Given the description of an element on the screen output the (x, y) to click on. 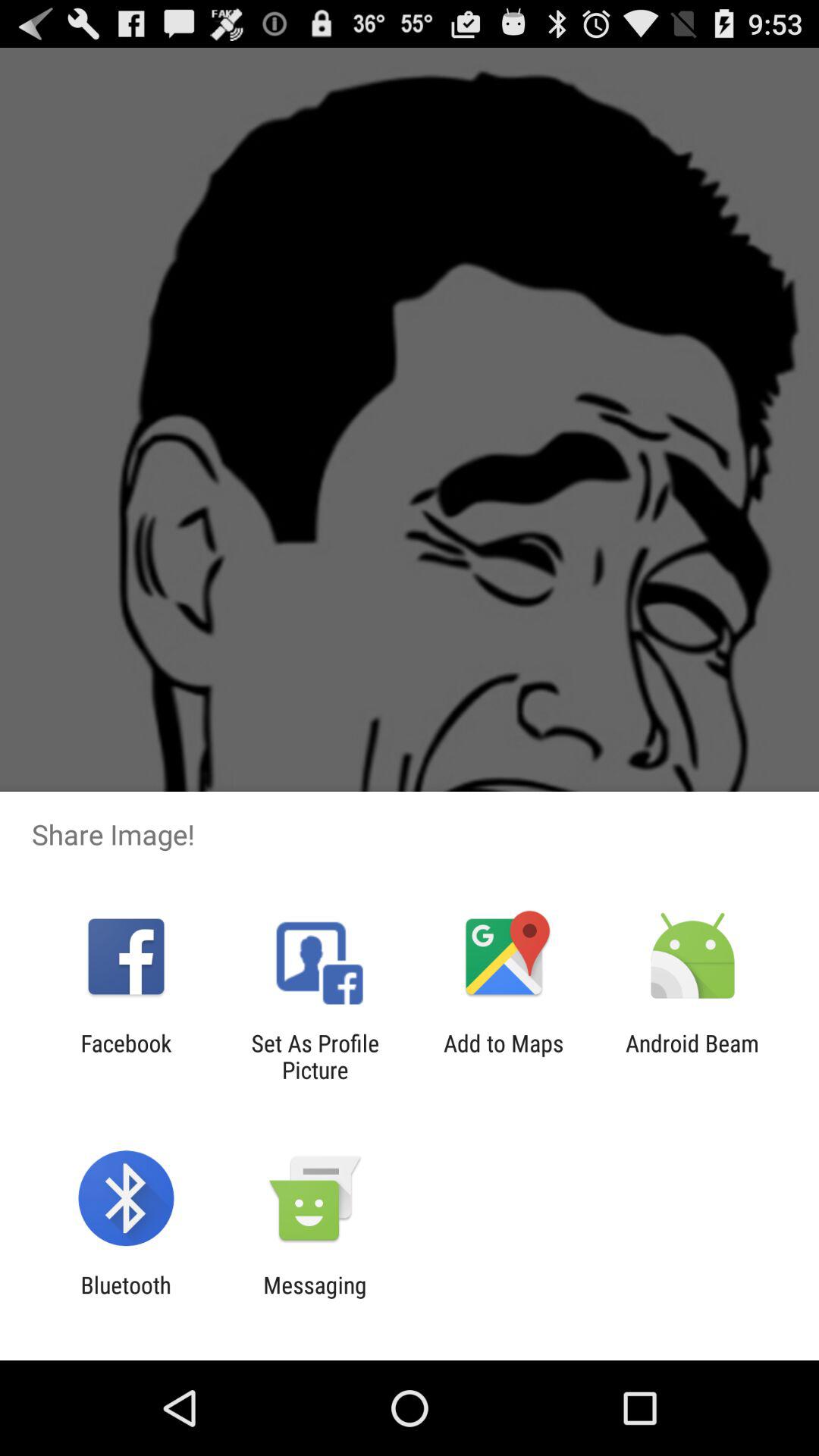
select set as profile icon (314, 1056)
